Given the description of an element on the screen output the (x, y) to click on. 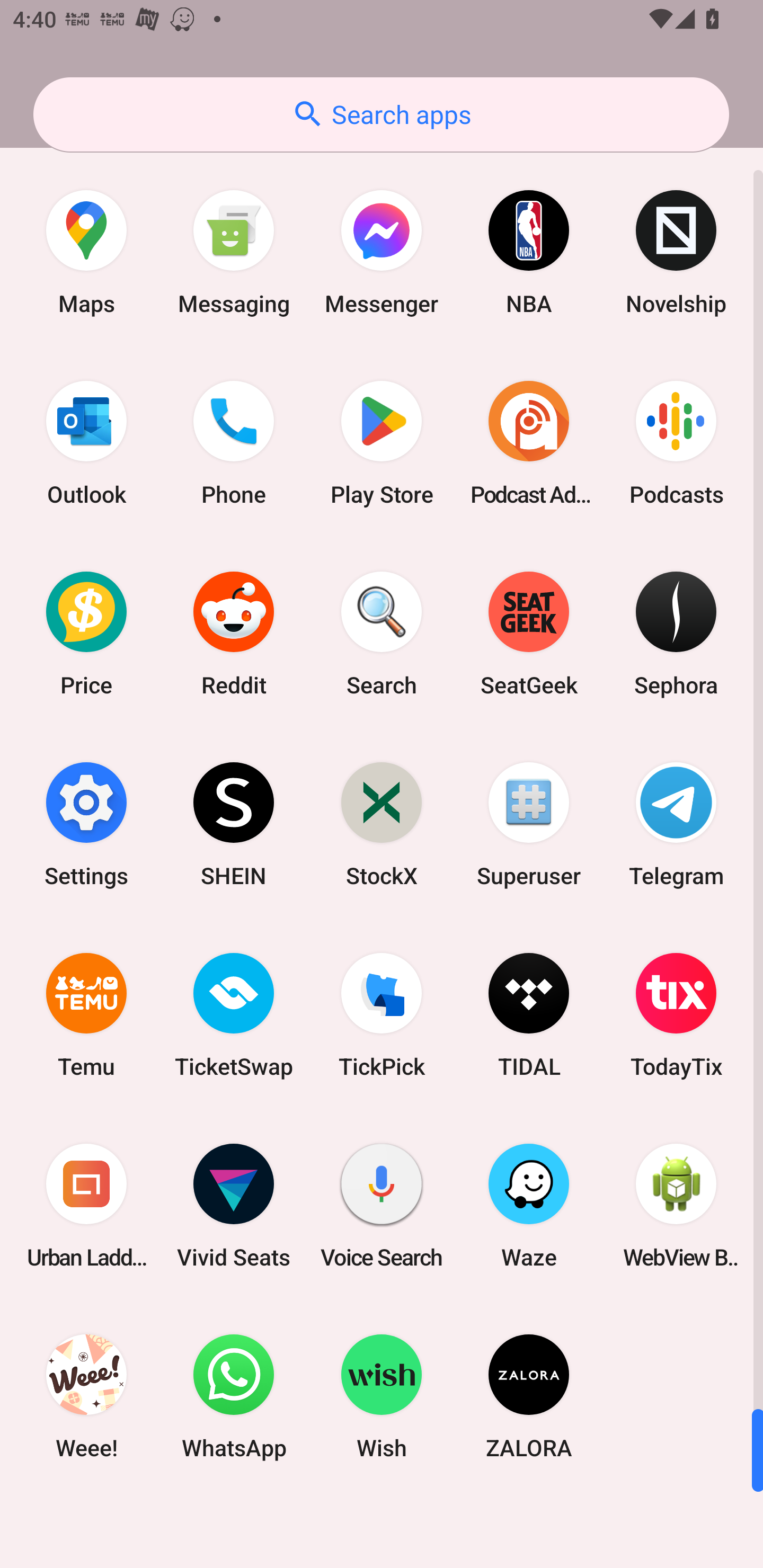
  Search apps (381, 114)
Maps (86, 252)
Messaging (233, 252)
Messenger (381, 252)
NBA (528, 252)
Novelship (676, 252)
Outlook (86, 442)
Phone (233, 442)
Play Store (381, 442)
Podcast Addict (528, 442)
Podcasts (676, 442)
Price (86, 633)
Reddit (233, 633)
Search (381, 633)
SeatGeek (528, 633)
Sephora (676, 633)
Settings (86, 823)
SHEIN (233, 823)
StockX (381, 823)
Superuser (528, 823)
Telegram (676, 823)
Temu (86, 1014)
TicketSwap (233, 1014)
TickPick (381, 1014)
TIDAL (528, 1014)
TodayTix (676, 1014)
Urban Ladder (86, 1205)
Vivid Seats (233, 1205)
Voice Search (381, 1205)
Waze (528, 1205)
WebView Browser Tester (676, 1205)
Weee! (86, 1396)
WhatsApp (233, 1396)
Wish (381, 1396)
ZALORA (528, 1396)
